Given the description of an element on the screen output the (x, y) to click on. 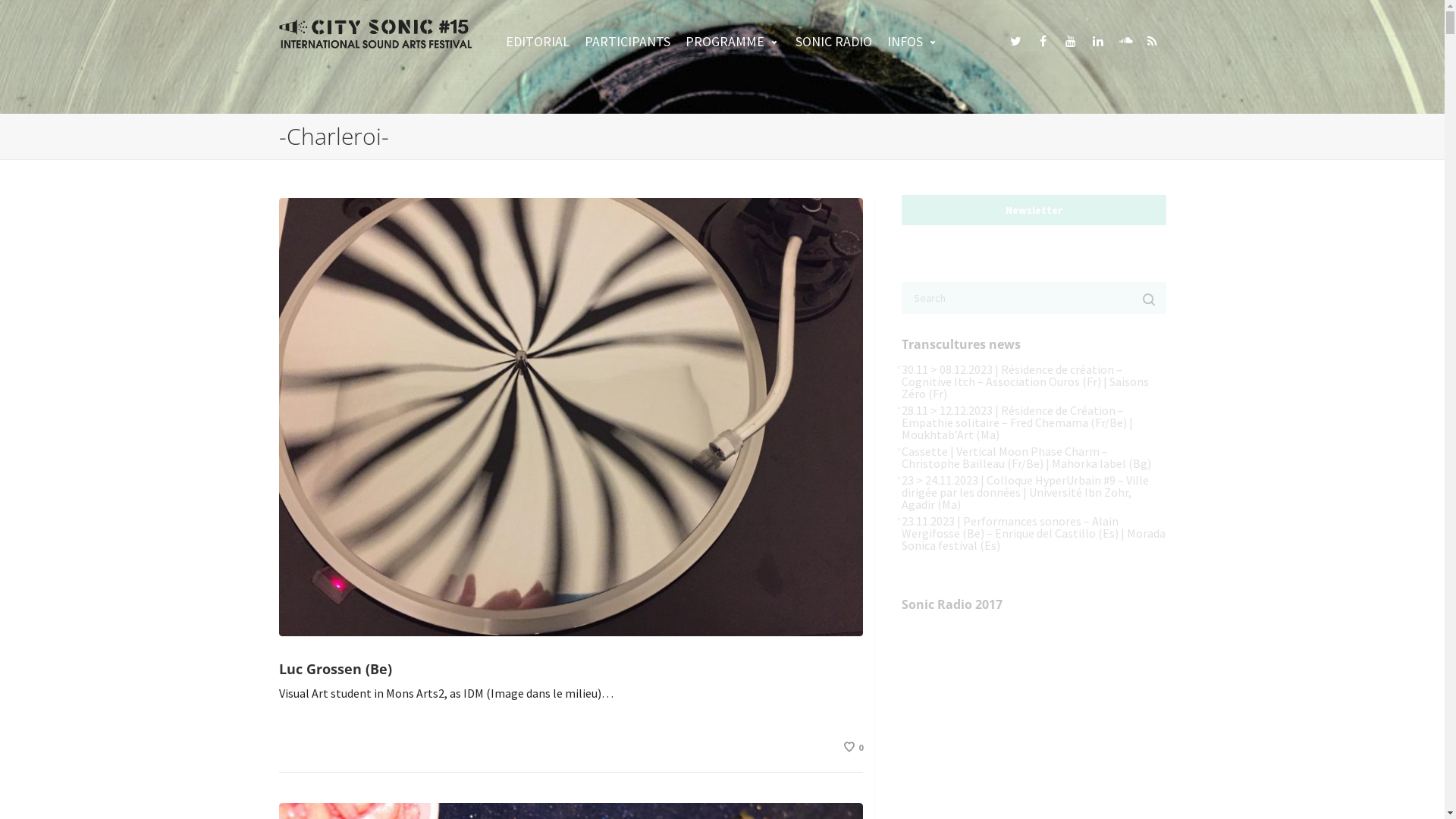
INFOS Element type: text (912, 41)
PROGRAMME Element type: text (732, 41)
SONIC RADIO Element type: text (833, 41)
Newsletter Element type: text (1032, 209)
Search Element type: text (1032, 325)
Luc Grossen (Be) Element type: text (335, 668)
0 Element type: text (852, 747)
Transcultures news Element type: text (959, 343)
PARTICIPANTS Element type: text (627, 41)
EDITORIAL Element type: text (537, 41)
